Given the description of an element on the screen output the (x, y) to click on. 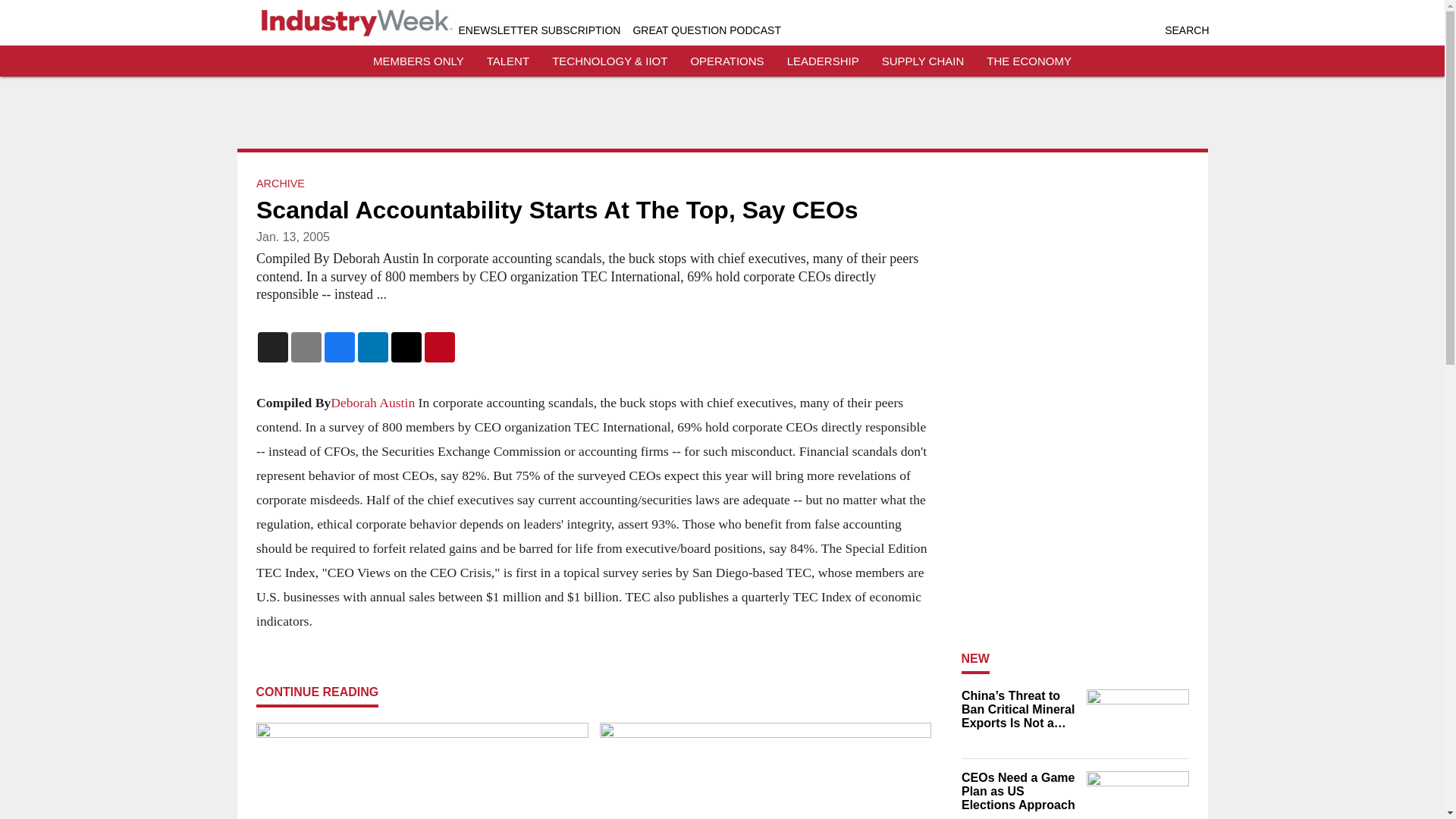
CEOs Need a Game Plan as US Elections Approach (1019, 791)
MEMBERS ONLY (418, 60)
THE ECONOMY (1029, 60)
Deborah Austin (372, 402)
SEARCH (1186, 30)
ARCHIVE (280, 183)
SUPPLY CHAIN (922, 60)
LEADERSHIP (823, 60)
OPERATIONS (726, 60)
ENEWSLETTER SUBSCRIPTION (539, 30)
TALENT (507, 60)
GREAT QUESTION PODCAST (705, 30)
